Given the description of an element on the screen output the (x, y) to click on. 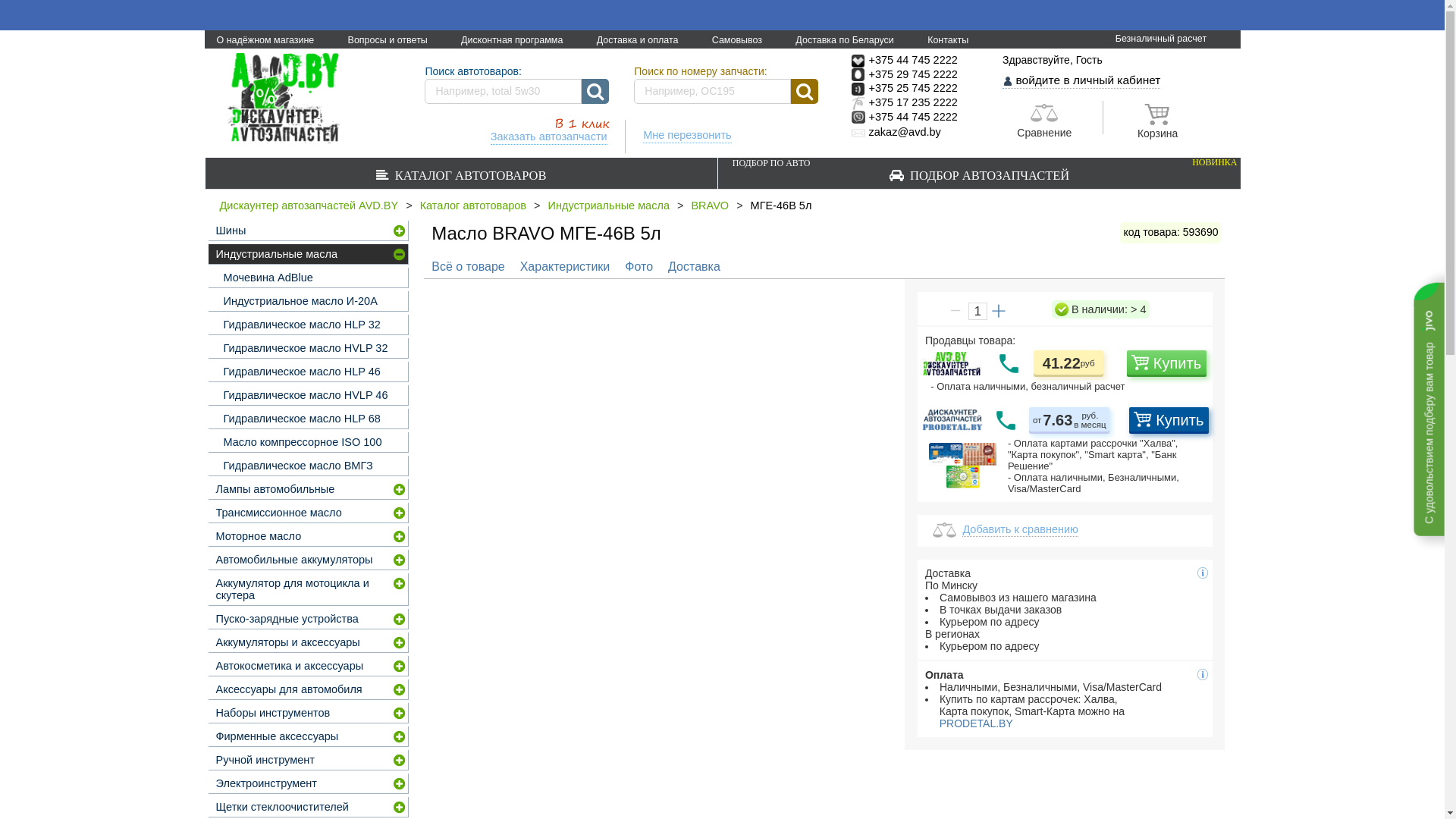
+375 44 745 2222 Element type: text (904, 59)
+375 29 745 2222 Element type: text (904, 74)
zakaz@avd.by Element type: text (896, 131)
+375 25 745 2222 Element type: text (904, 87)
BRAVO Element type: text (713, 205)
+375 44 745 2222 Element type: text (904, 116)
 PRODETAL.BY Element type: text (969, 723)
+375 17 235 2222 Element type: text (904, 102)
